Given the description of an element on the screen output the (x, y) to click on. 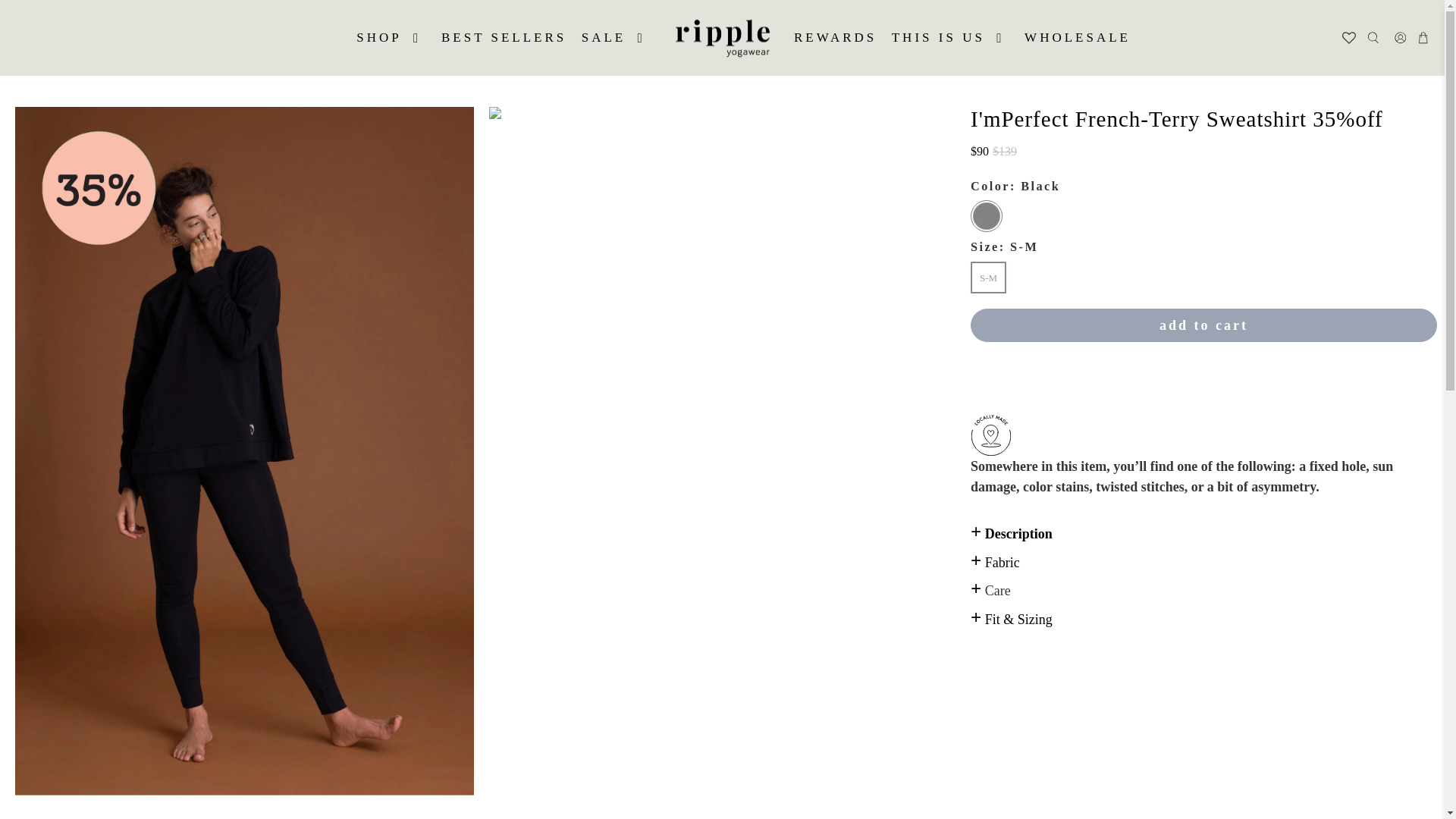
REWARDS (834, 37)
BEST SELLERS (503, 37)
THIS IS US (949, 37)
SHOP (391, 37)
Ripple Yoga Wear (721, 37)
SALE (615, 37)
WHOLESALE (1076, 37)
